Given the description of an element on the screen output the (x, y) to click on. 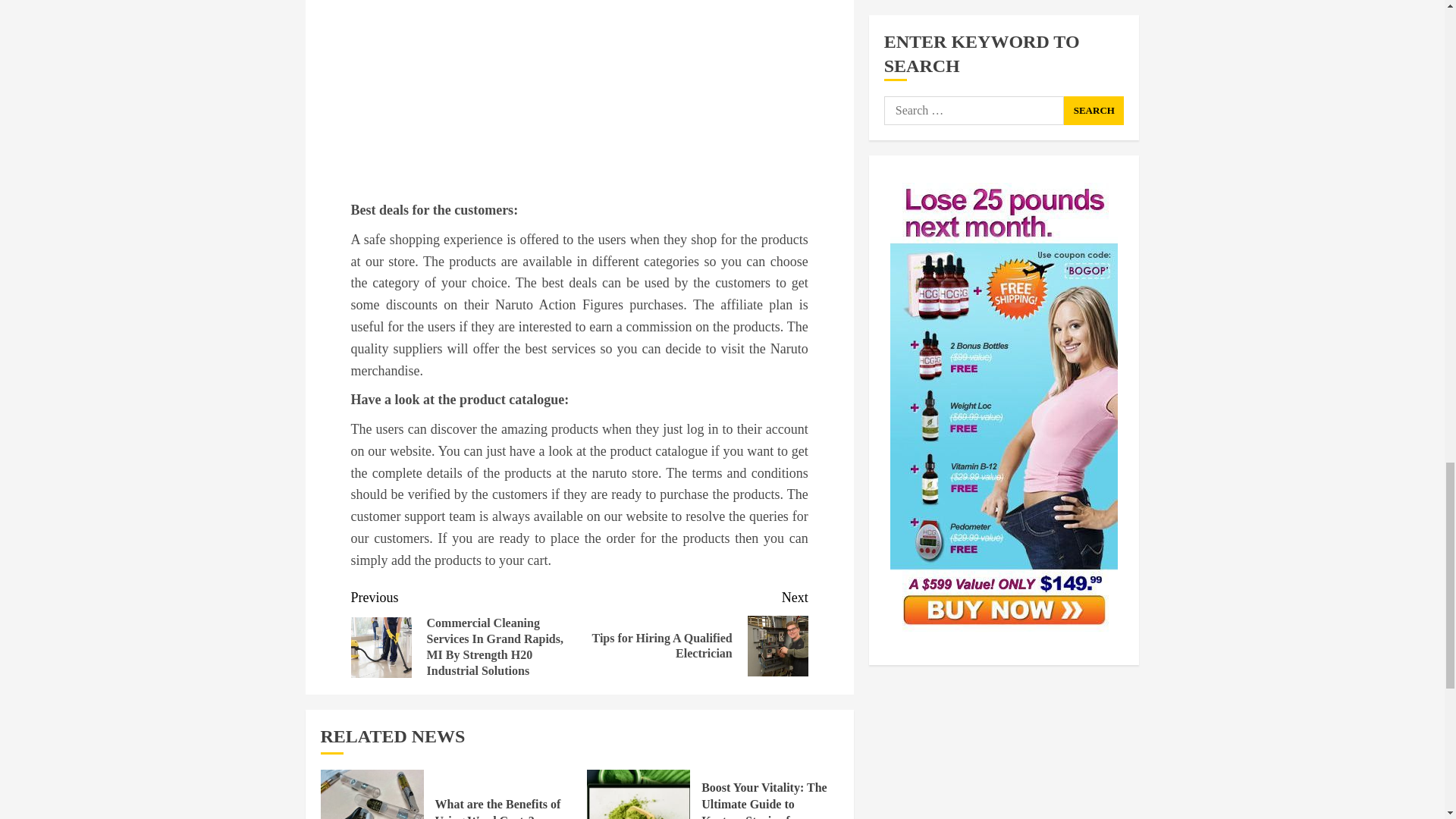
What are the Benefits of Using Weed Carts? (693, 632)
